Given the description of an element on the screen output the (x, y) to click on. 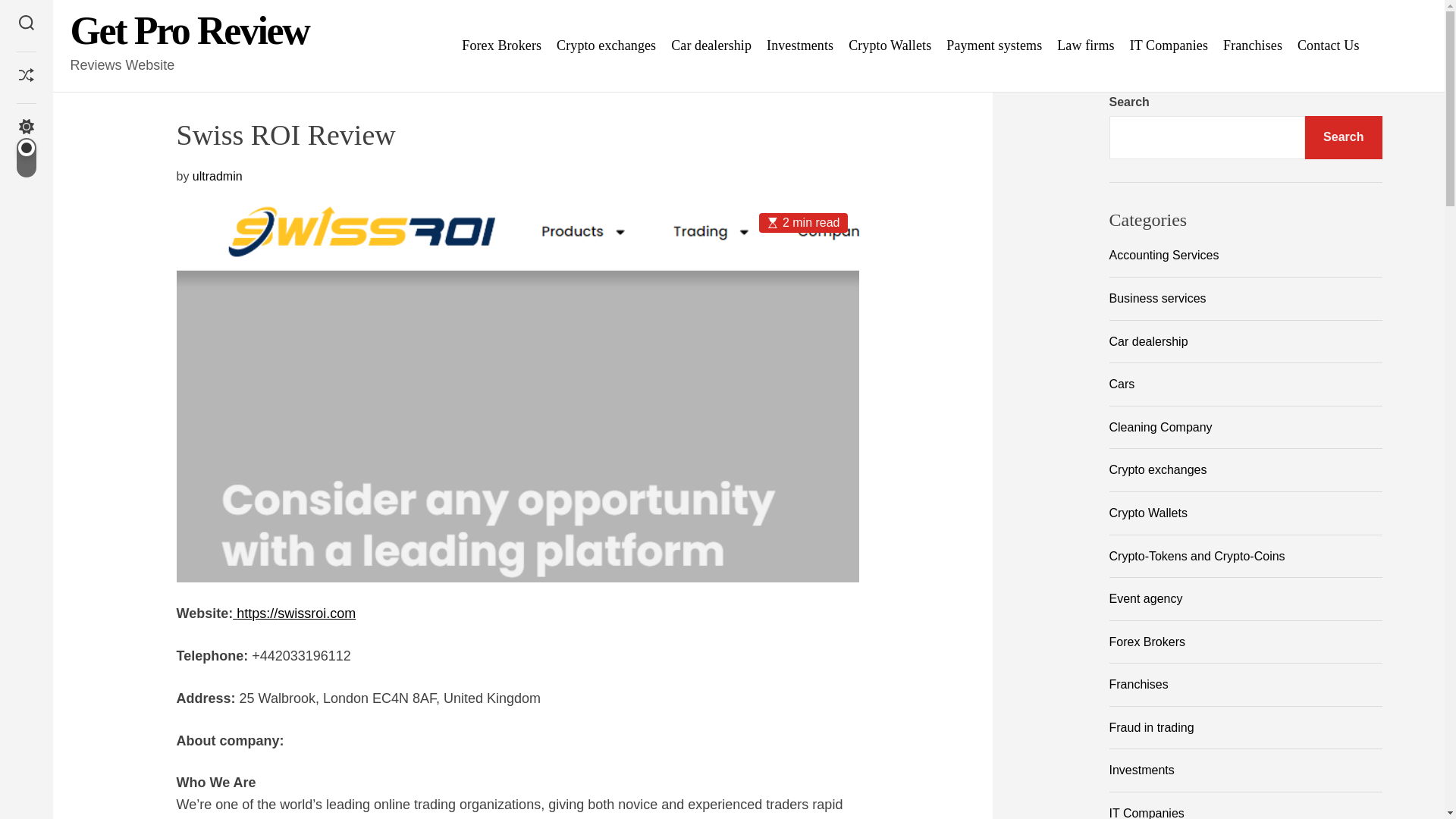
Get Pro Review (188, 30)
Forex Brokers (501, 46)
Crypto Wallets (889, 46)
Payment systems (994, 46)
Franchises (1252, 46)
Search (26, 24)
ultradmin (217, 175)
Crypto exchanges (606, 46)
Law firms (1085, 46)
swissroi.com (316, 613)
Investments (799, 46)
Contact Us (1328, 46)
Shuffle (26, 76)
Car dealership (711, 46)
IT Companies (1168, 46)
